Given the description of an element on the screen output the (x, y) to click on. 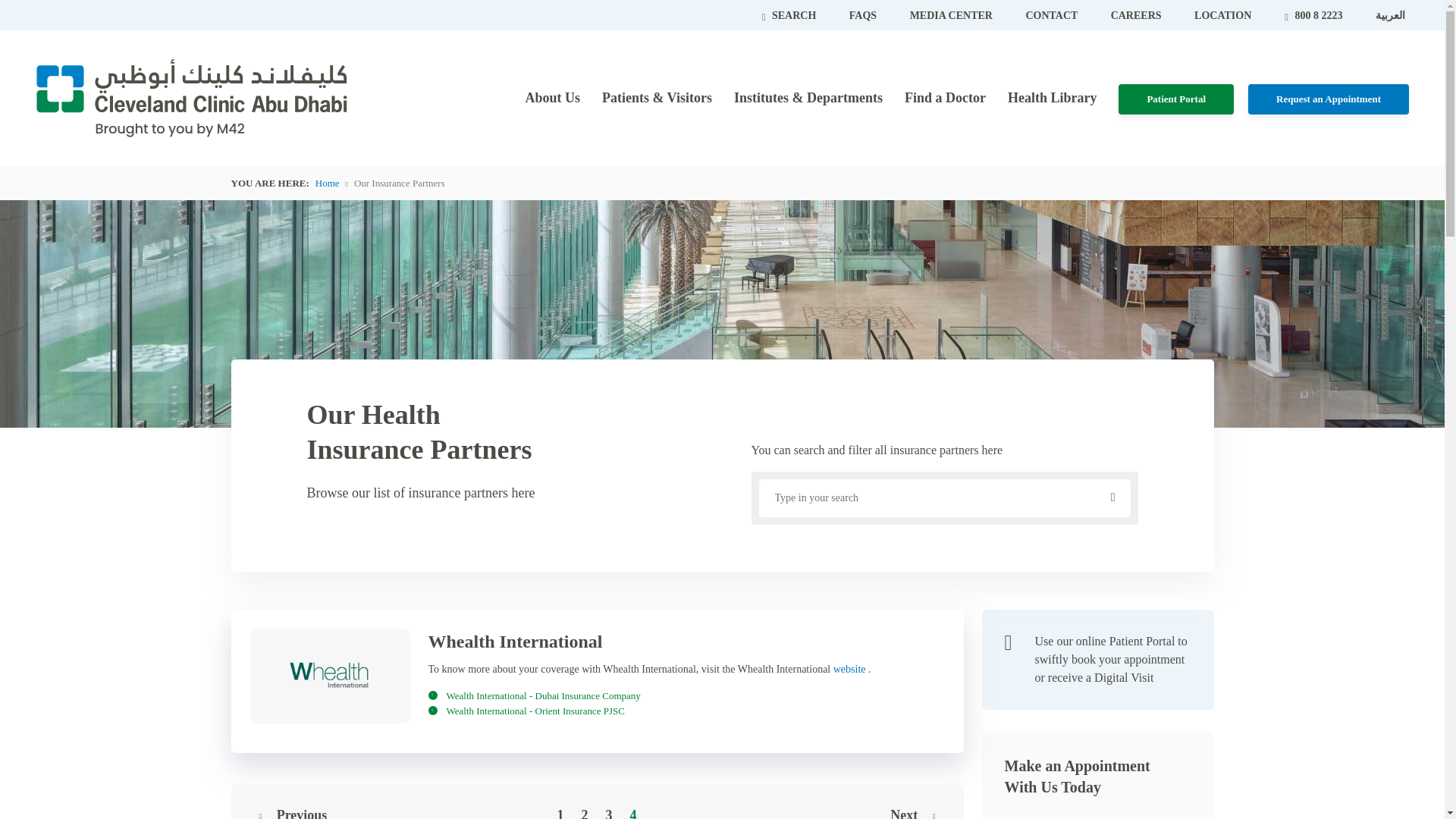
SEARCH (789, 15)
Find a Doctor (944, 97)
CONTACT (1052, 15)
800 8 2223 (1314, 15)
MEDIA CENTER (952, 15)
FAQS (863, 15)
CAREERS (1136, 15)
About Us (551, 97)
LOCATION (1221, 15)
